Given the description of an element on the screen output the (x, y) to click on. 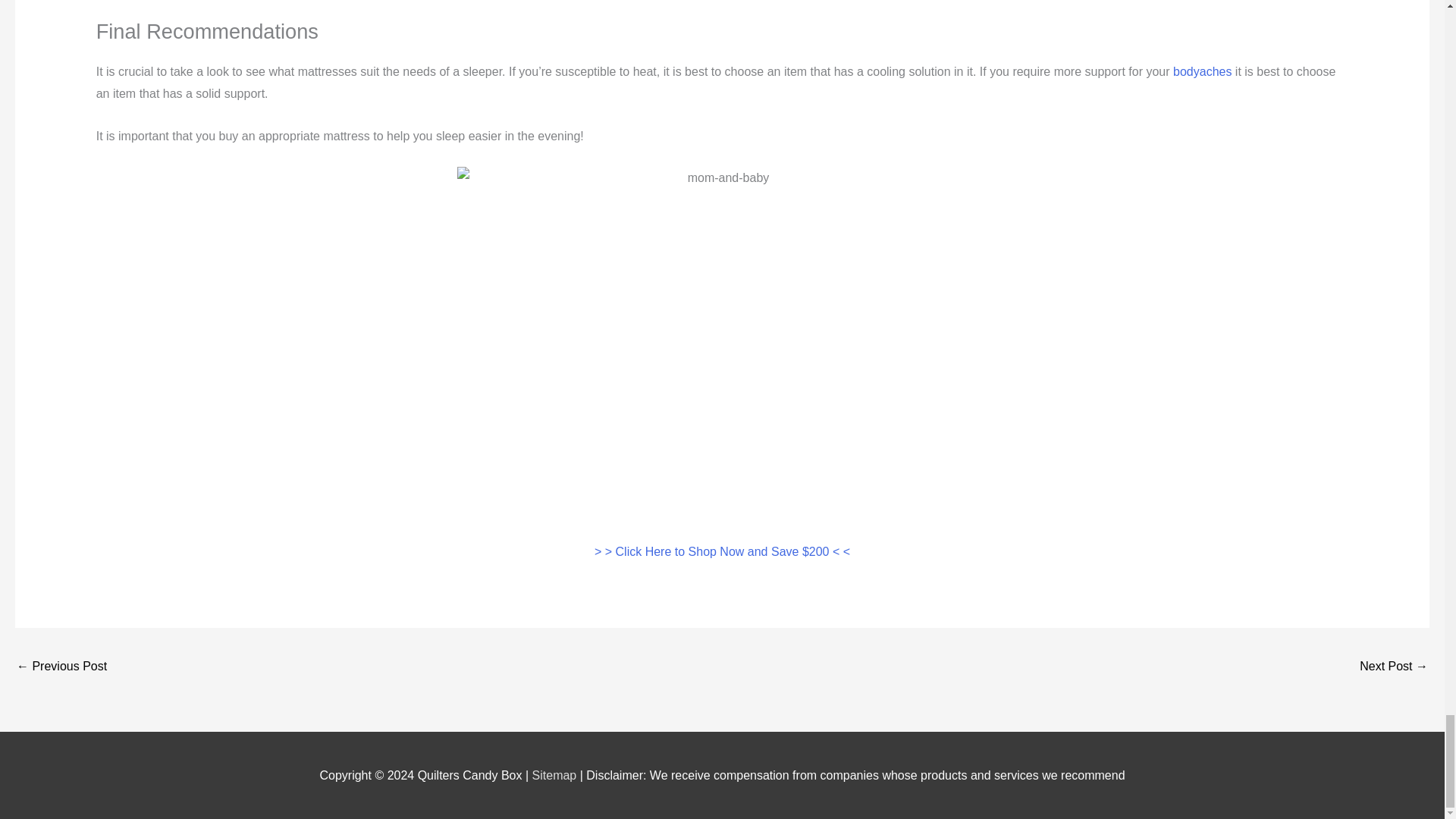
bodyaches (1202, 71)
Kingsdown Vs Dreamcloud Mattress (61, 667)
Sitemap (555, 775)
Casper Vs Dreamcloud Matteress (1393, 667)
